Given the description of an element on the screen output the (x, y) to click on. 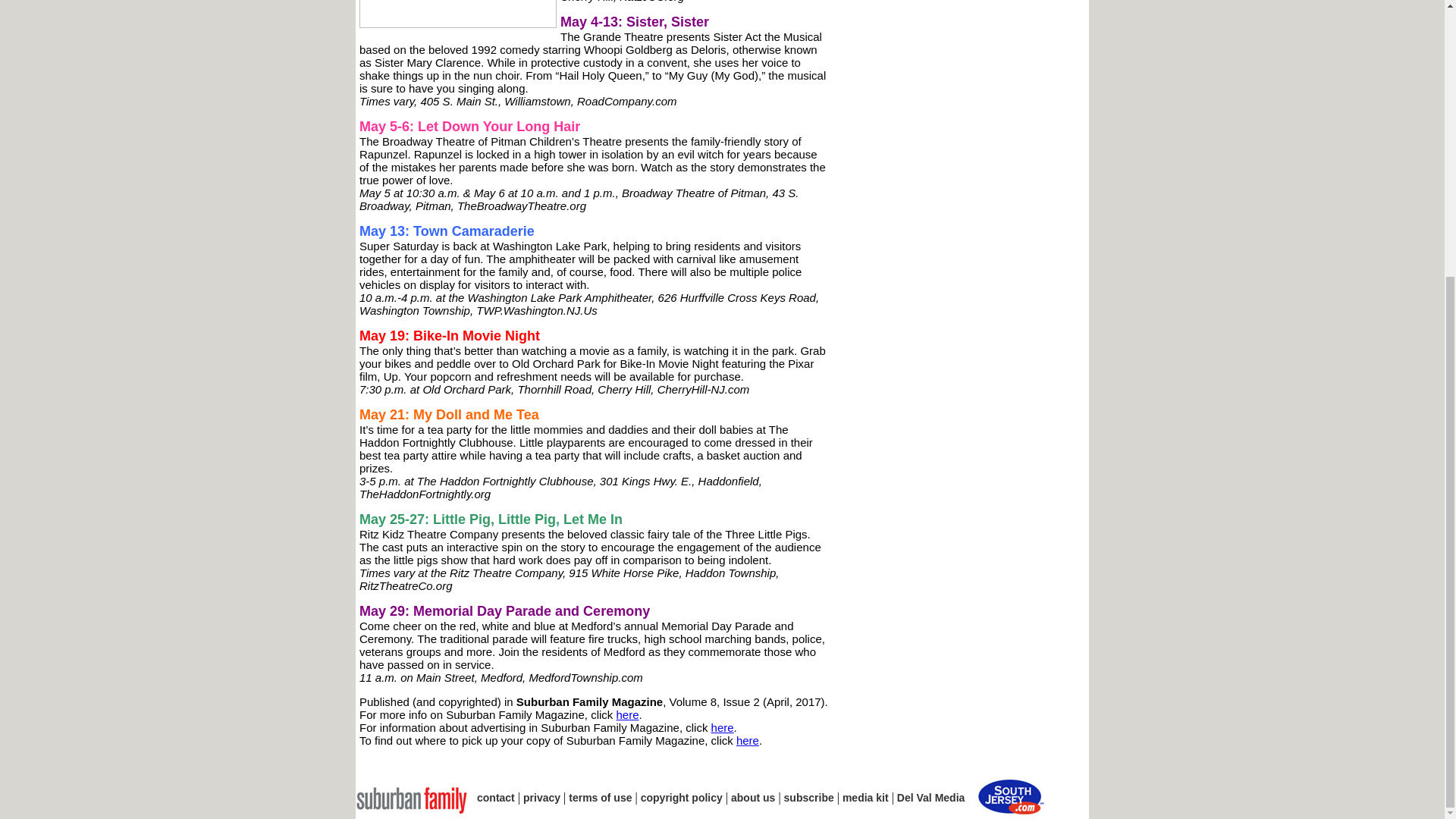
terms of use (600, 797)
here (747, 739)
contact (496, 797)
privacy (541, 797)
here (627, 714)
here (722, 727)
